Given the description of an element on the screen output the (x, y) to click on. 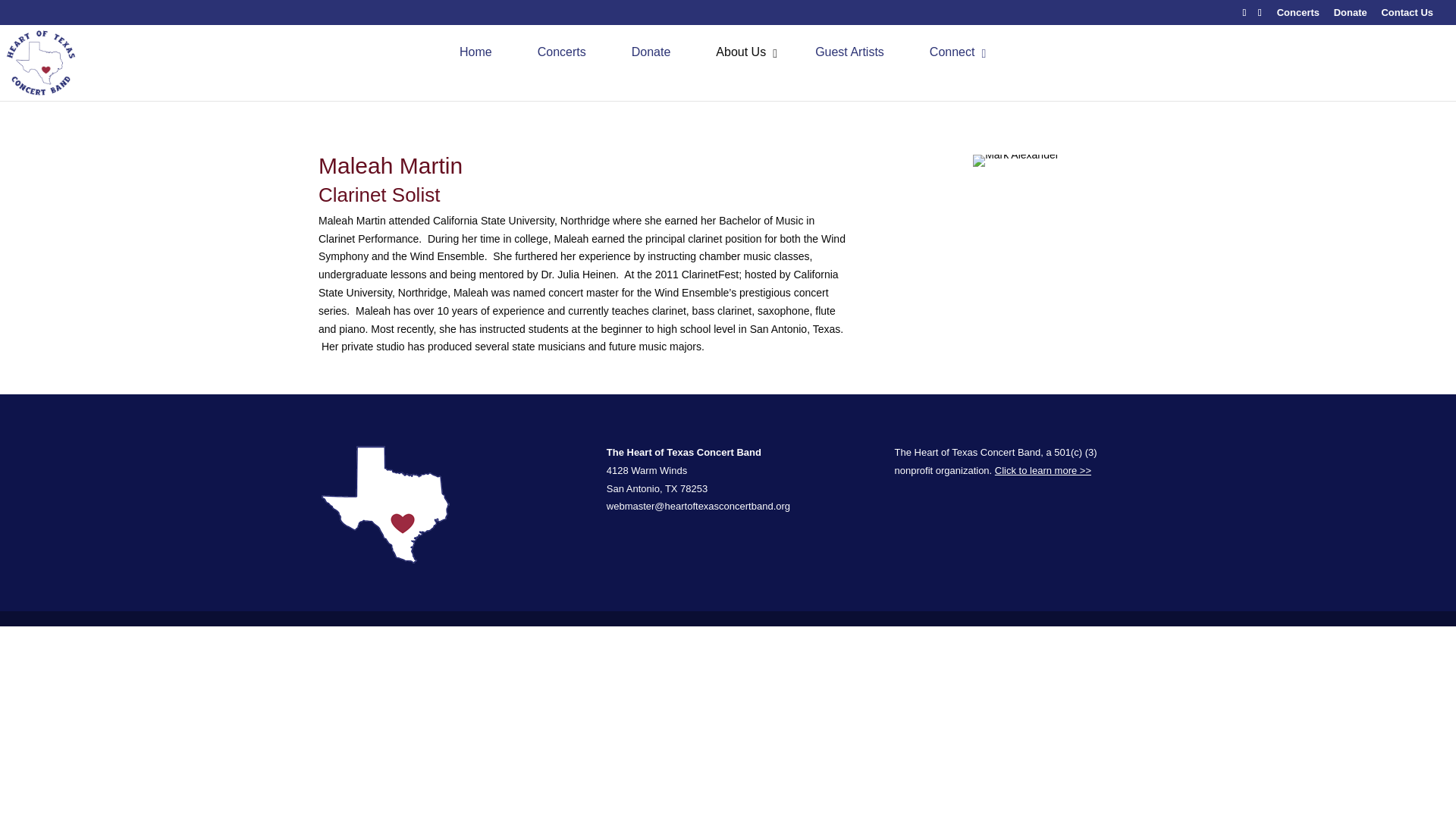
Concerts (718, 51)
Connect (1297, 16)
Maleah Martin (954, 51)
Contact Us (1015, 160)
Donate (1406, 16)
Concerts (1350, 16)
Donate (561, 51)
Guest Artists (650, 51)
Home (849, 51)
